Given the description of an element on the screen output the (x, y) to click on. 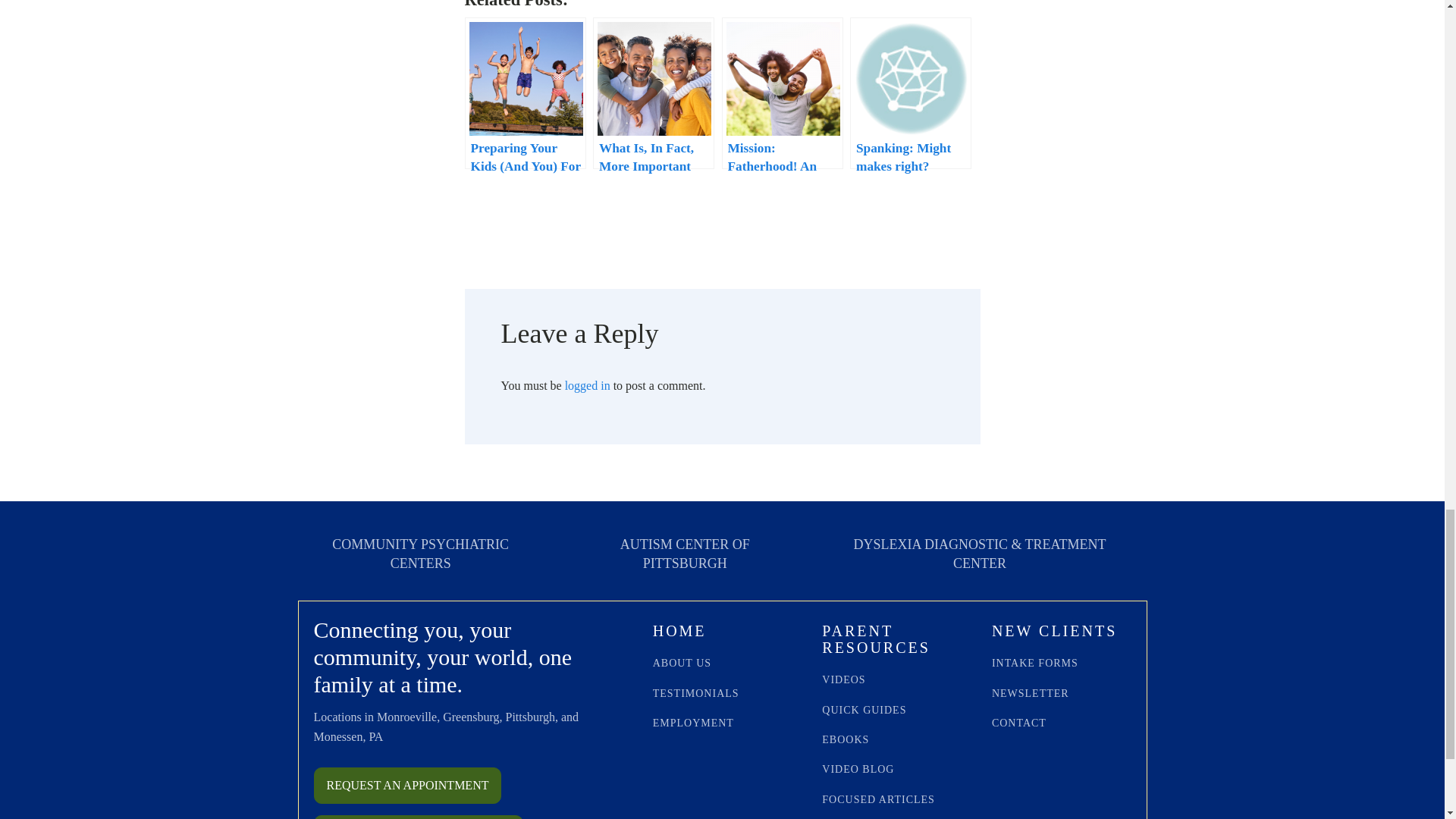
Spanking: Might makes right? (910, 92)
TESTIMONIALS (695, 693)
QUICK GUIDES (863, 709)
COMMUNITY PSYCHIATRIC CENTERS (420, 554)
What Is, In Fact, More Important Than Discipline? (653, 92)
EBOOKS (845, 739)
HOME (679, 632)
AUTISM CENTER OF PITTSBURGH (685, 554)
What Is, In Fact, More Important Than Discipline? (653, 92)
REQUEST AN APPOINTMENT (408, 785)
Mission: Fatherhood! An Open Letter To Dads (782, 92)
VIDEOS (843, 679)
logged in (587, 385)
EMPLOYMENT (692, 722)
Spanking: Might makes right? (910, 92)
